Given the description of an element on the screen output the (x, y) to click on. 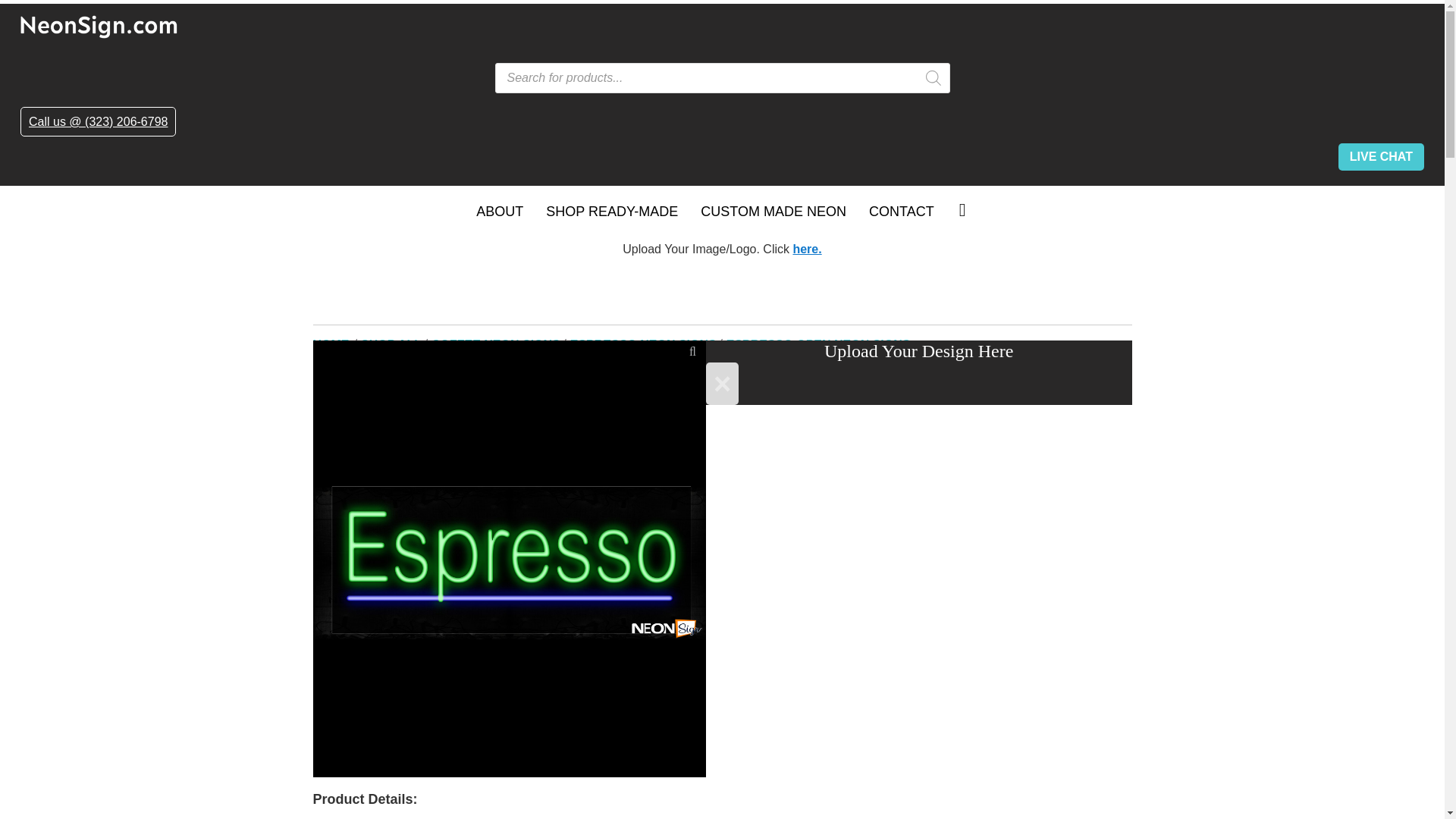
here. (806, 248)
Free Quote (806, 248)
SHOP READY-MADE (611, 211)
ABOUT (499, 211)
CONTACT (900, 211)
ESPRESSO NEON SIGNS (643, 344)
Cart Link (961, 209)
NeonSign.com (721, 26)
ESPRESSO OPEN NEON SIGNS (819, 344)
CUSTOM MADE NEON (772, 211)
HOME  (332, 344)
LIVE CHAT (1380, 156)
COFFEE NEON SIGNS (496, 344)
SHOP ALL (392, 344)
